Given the description of an element on the screen output the (x, y) to click on. 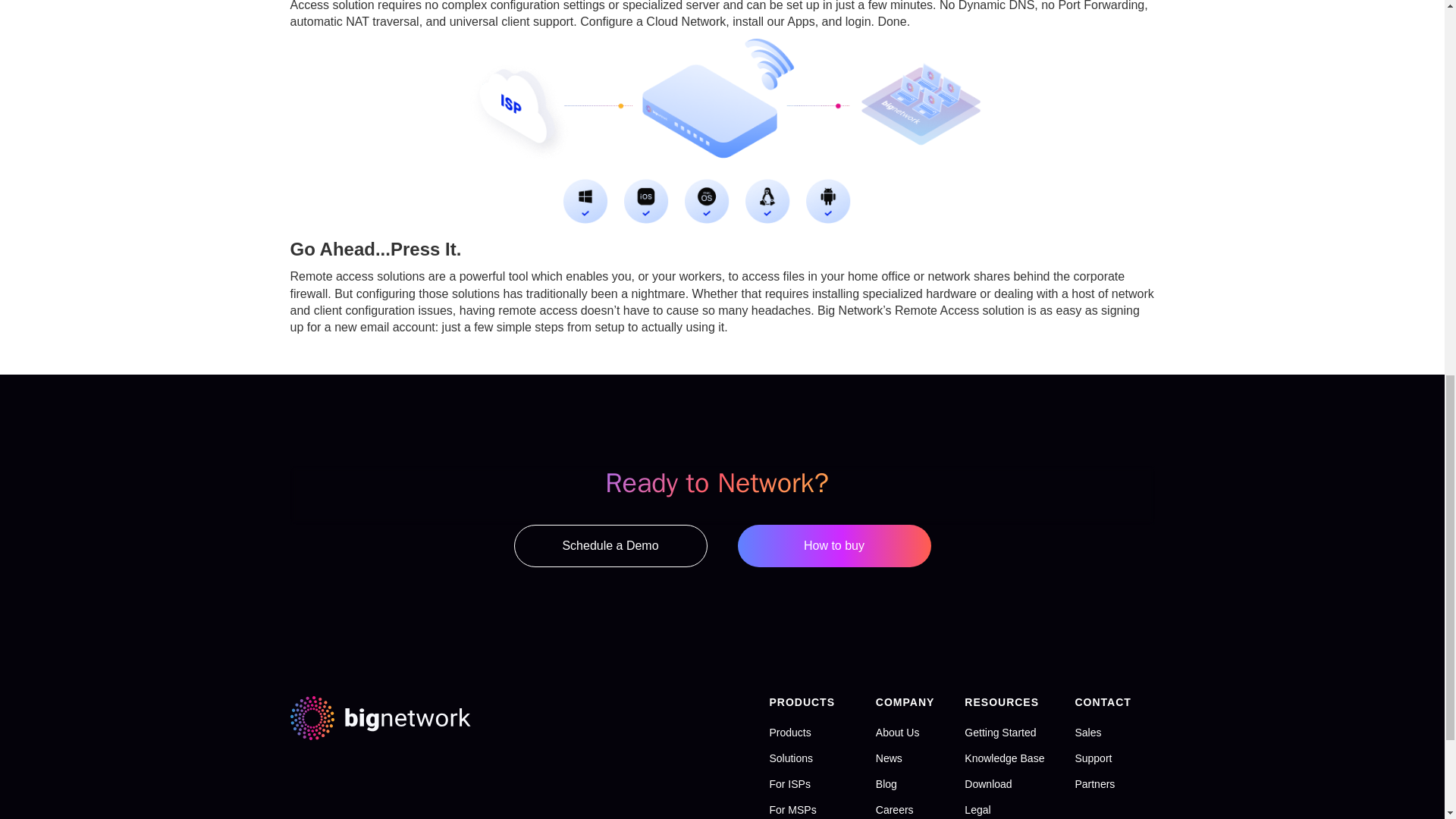
Careers (895, 809)
Blog (886, 784)
Schedule a Demo (610, 545)
Getting Started (999, 732)
News (889, 758)
For MSPs (791, 809)
Products (789, 732)
How to buy (833, 545)
Solutions (790, 758)
About Us (898, 732)
For ISPs (788, 784)
